Given the description of an element on the screen output the (x, y) to click on. 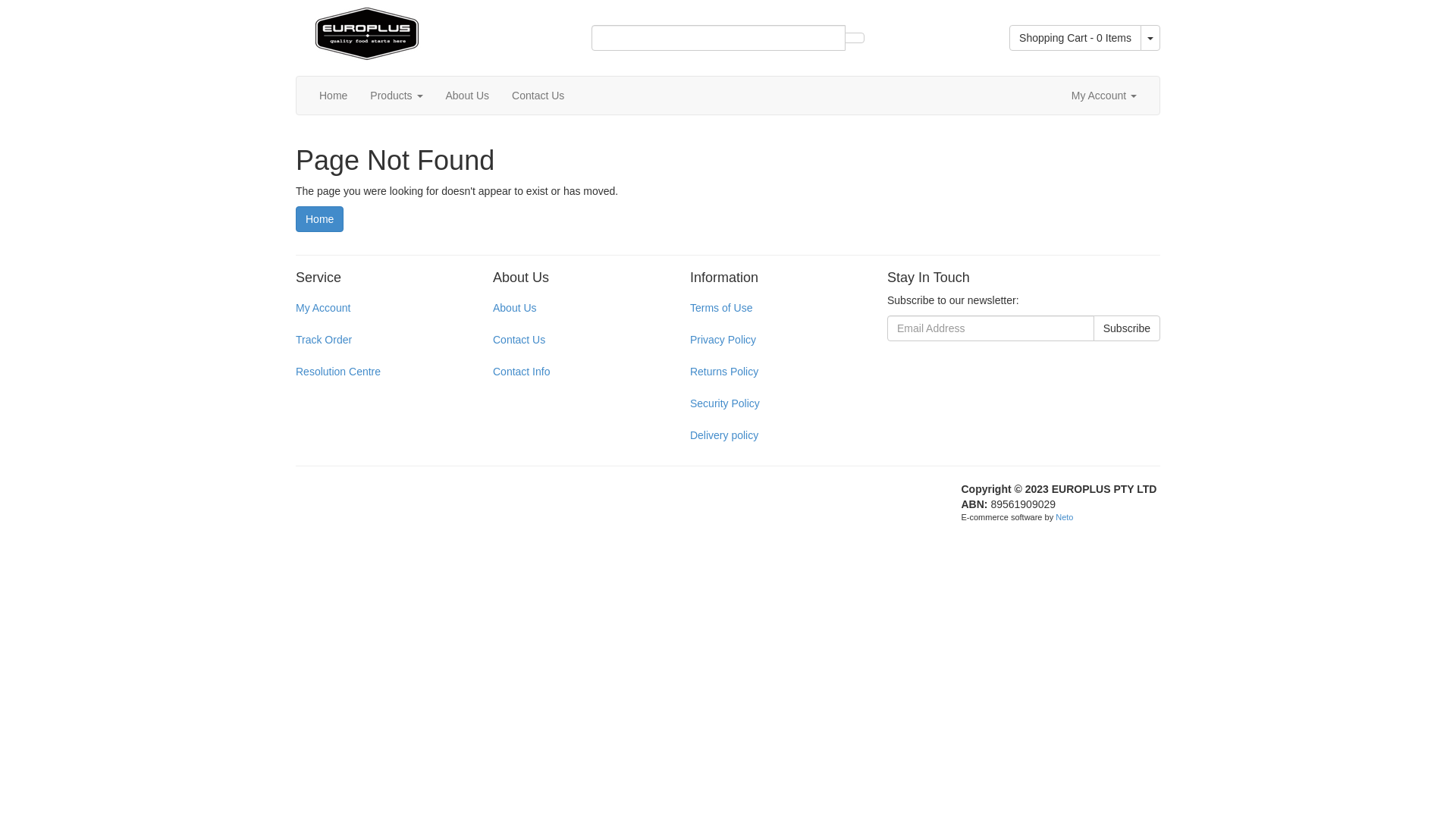
Contact Info Element type: text (574, 371)
Privacy Policy Element type: text (771, 339)
Track Order Element type: text (377, 339)
Terms of Use Element type: text (771, 307)
EUROPLUS PTY LTD Element type: hover (366, 29)
Products Element type: text (395, 95)
Contact Us Element type: text (537, 95)
Returns Policy Element type: text (771, 371)
Search Element type: text (854, 37)
Delivery policy Element type: text (771, 435)
My Account Element type: text (1104, 95)
Neto Element type: text (1064, 516)
My Account Element type: text (377, 307)
Home Element type: text (332, 95)
Contact Us Element type: text (574, 339)
Resolution Centre Element type: text (377, 371)
Shopping Cart - 0 Items Element type: text (1075, 37)
About Us Element type: text (466, 95)
Security Policy Element type: text (771, 403)
About Us Element type: text (574, 307)
Home Element type: text (319, 219)
Subscribe Element type: text (1126, 328)
